Given the description of an element on the screen output the (x, y) to click on. 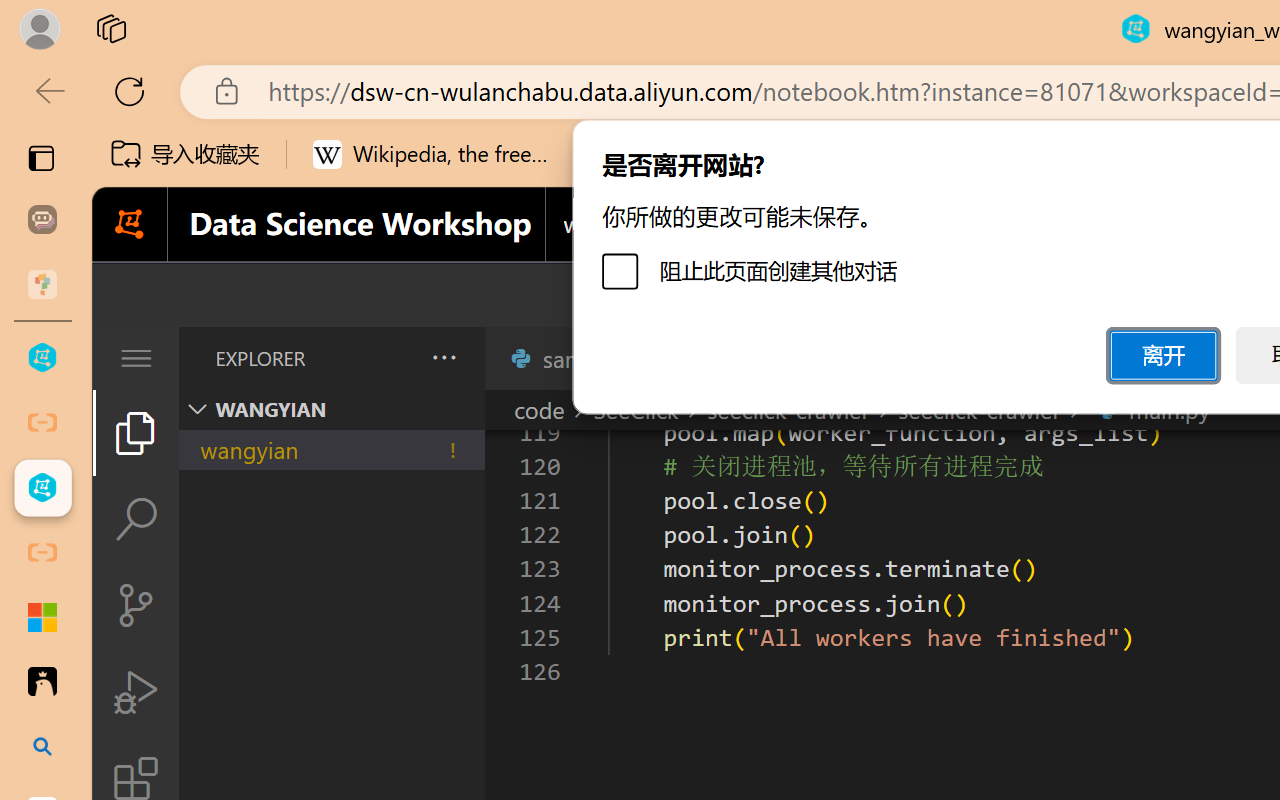
Search (Ctrl+Shift+F) (135, 519)
Class: menubar compact overflow-menu-only (135, 358)
wangyian_webcrawler - DSW (42, 487)
Explorer (Ctrl+Shift+E) (135, 432)
Adjust indents and spacing - Microsoft Support (42, 617)
Views and More Actions... (442, 357)
